Given the description of an element on the screen output the (x, y) to click on. 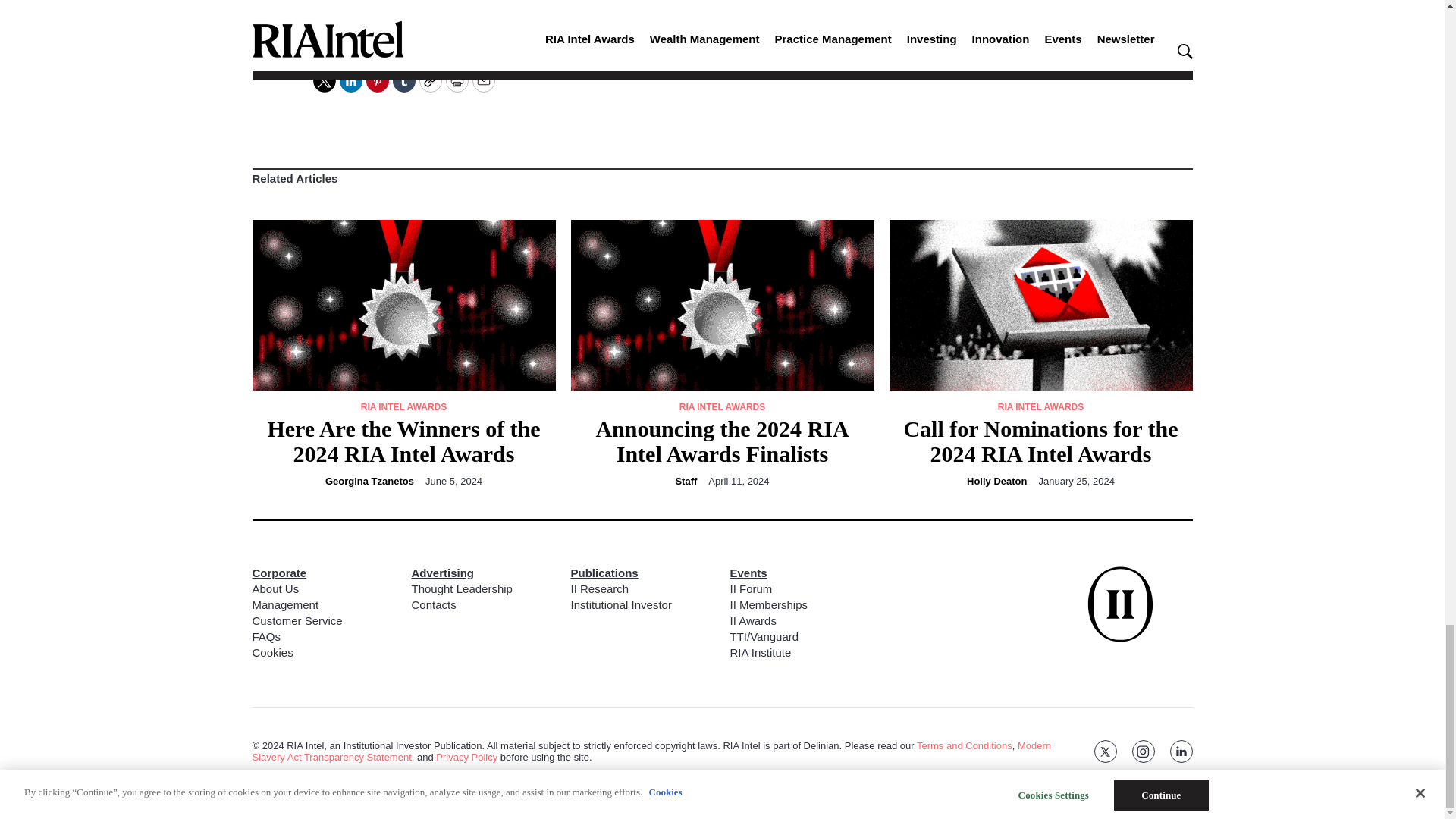
LinkedIn (350, 80)
Pinterest (376, 80)
Print (456, 80)
Twitter (323, 80)
LinkedIn (367, 12)
Email (483, 80)
Tumblr (403, 80)
